Given the description of an element on the screen output the (x, y) to click on. 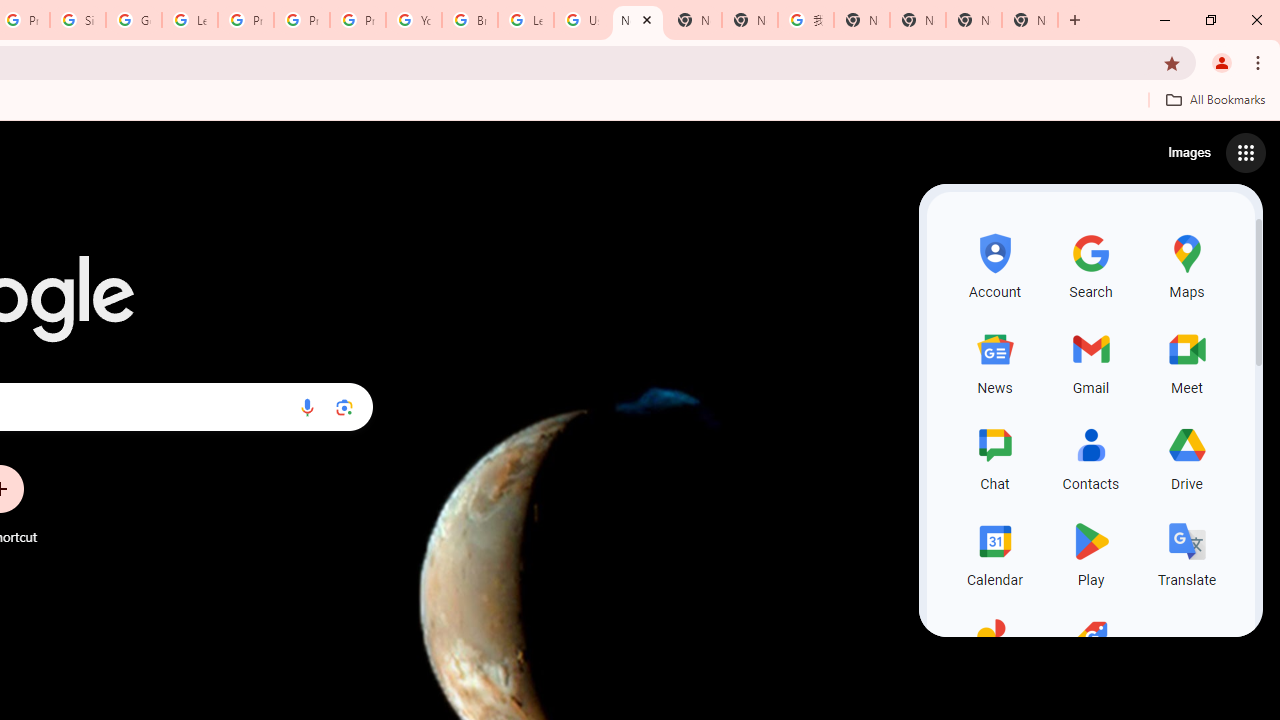
Gmail, row 2 of 5 and column 2 of 3 in the first section (1090, 359)
Privacy Help Center - Policies Help (301, 20)
Chat, row 3 of 5 and column 1 of 3 in the first section (994, 455)
Meet, row 2 of 5 and column 3 of 3 in the first section (1186, 359)
Play, row 4 of 5 and column 2 of 3 in the first section (1090, 551)
